Given the description of an element on the screen output the (x, y) to click on. 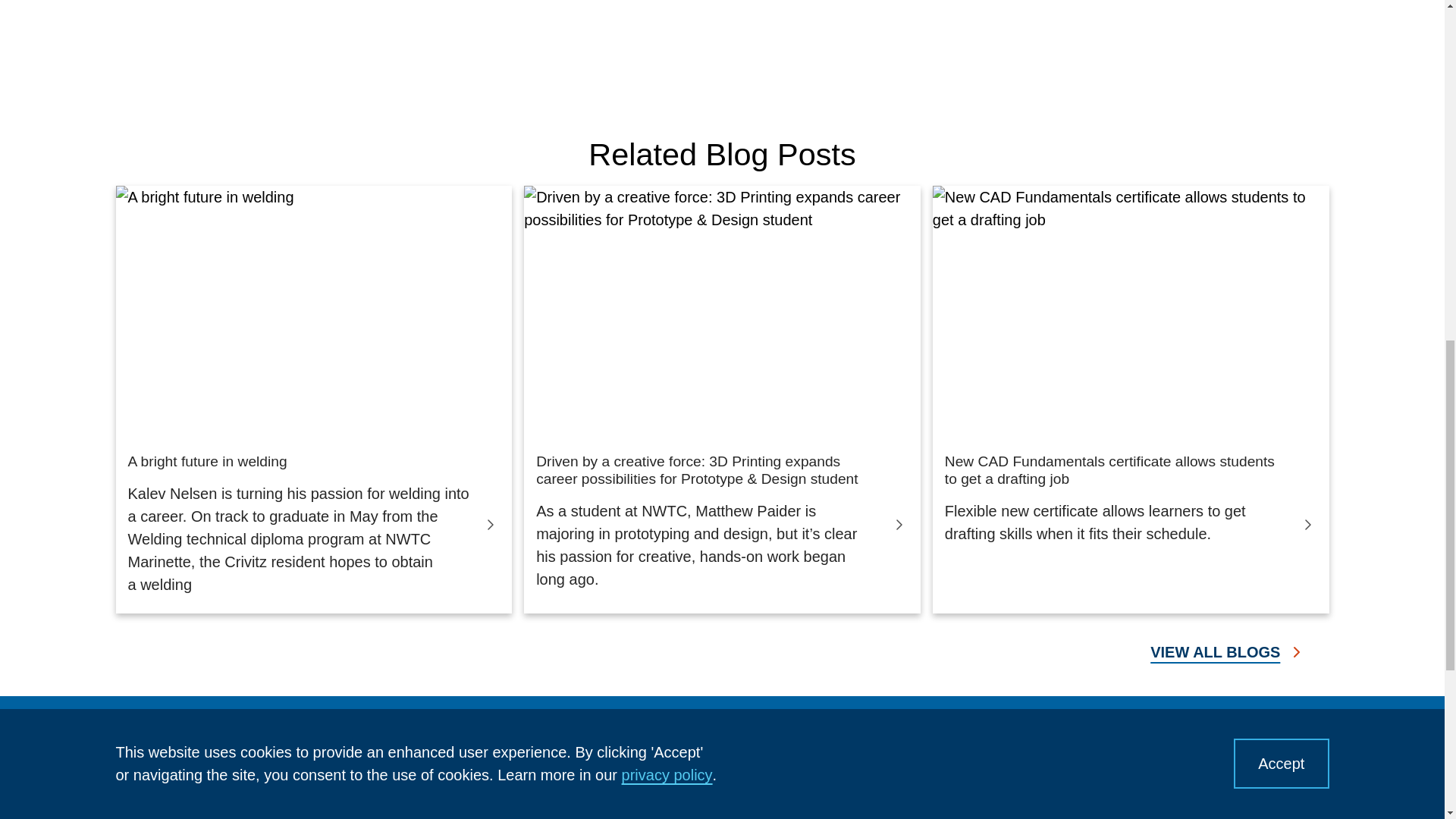
The Bald Eagle Podcast: Industry 4.0 (595, 49)
